Given the description of an element on the screen output the (x, y) to click on. 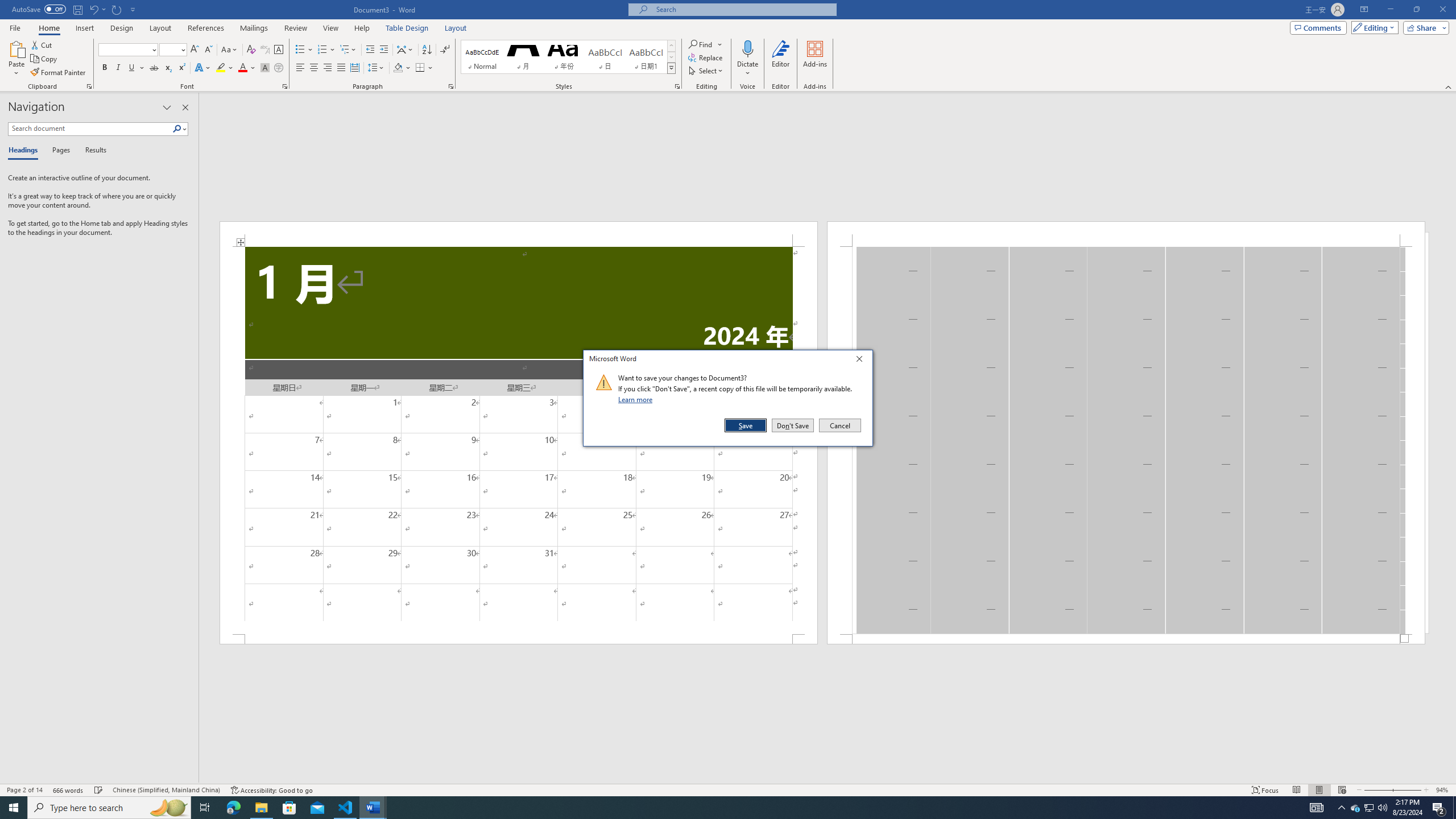
Q2790: 100% (1382, 807)
Accessibility Checker Accessibility: Good to go (271, 790)
Character Border (278, 49)
Don't Save (792, 425)
